Given the description of an element on the screen output the (x, y) to click on. 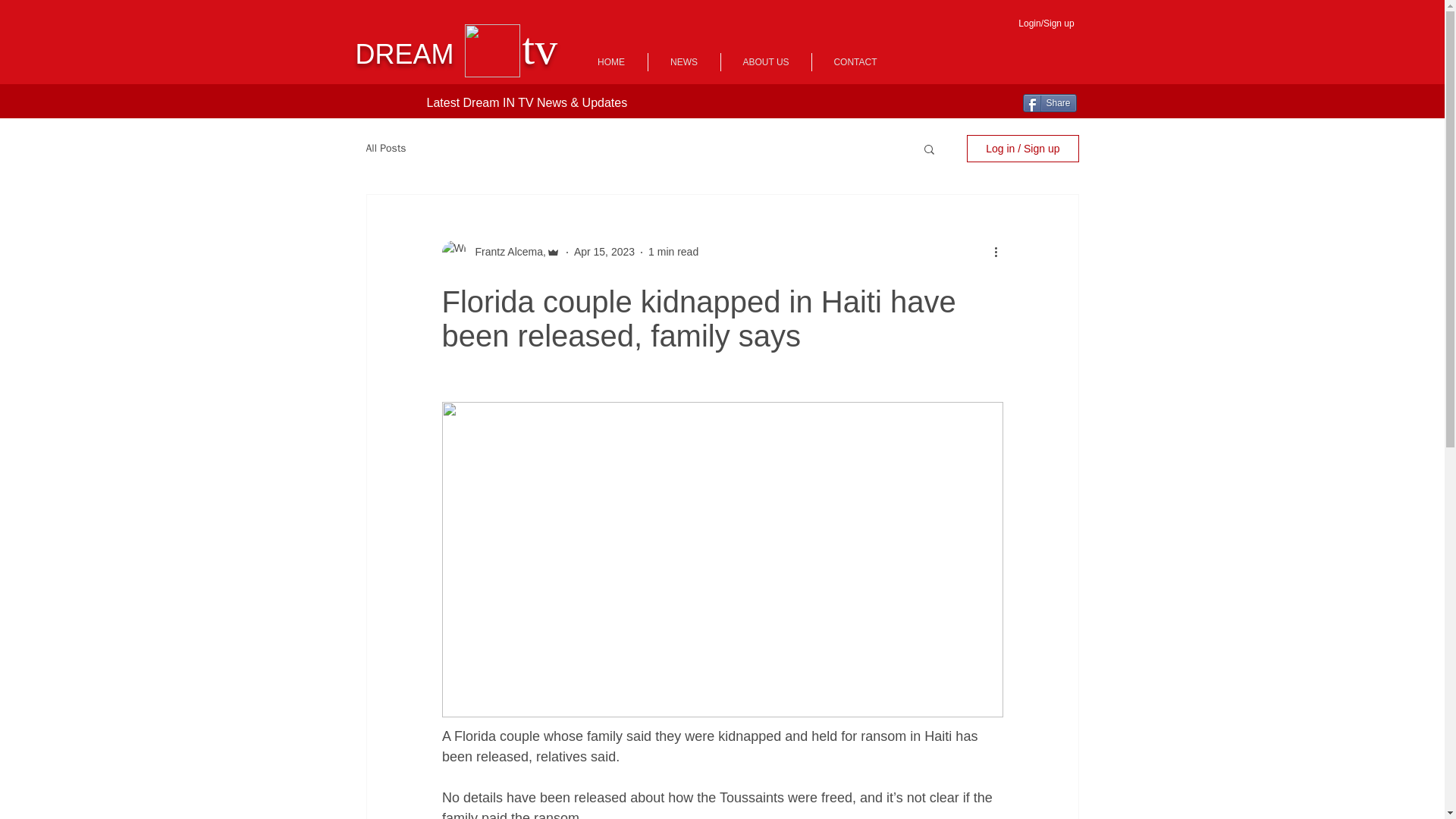
Frantz Alcema,  (504, 252)
ABOUT US (765, 62)
MENU (1134, 57)
All Posts (385, 148)
Share (1048, 103)
NEWS (683, 62)
HOME (610, 62)
Share (1048, 103)
tv icon.png 2014-7-2-22:32:41 (491, 50)
Facebook Like (384, 102)
1 min read (672, 251)
CONTACT (854, 62)
Apr 15, 2023 (603, 251)
